Given the description of an element on the screen output the (x, y) to click on. 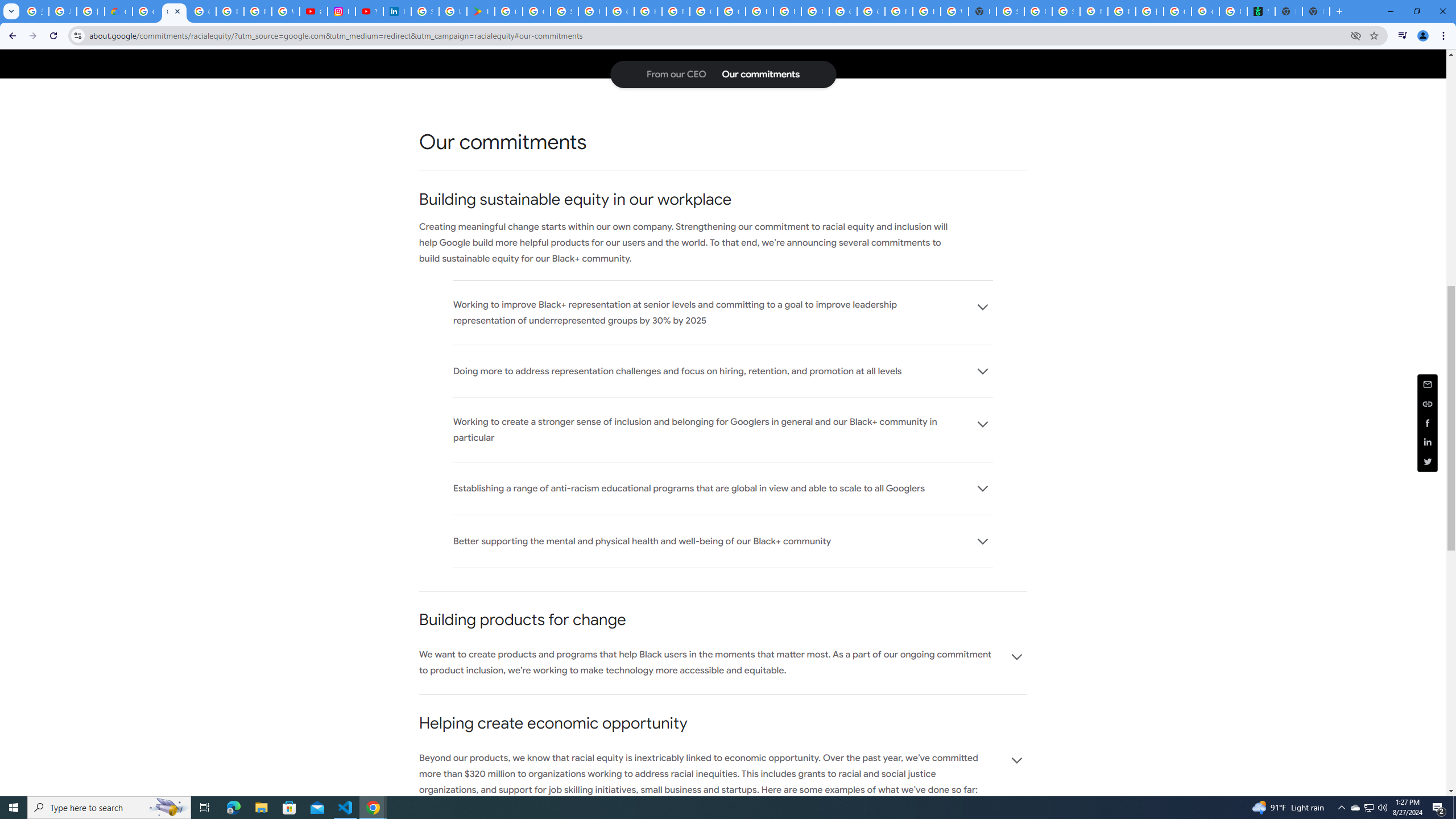
Google Cloud Platform (842, 11)
Last Shelter: Survival - Apps on Google Play (480, 11)
Google Workspace - Specific Terms (536, 11)
